Given the description of an element on the screen output the (x, y) to click on. 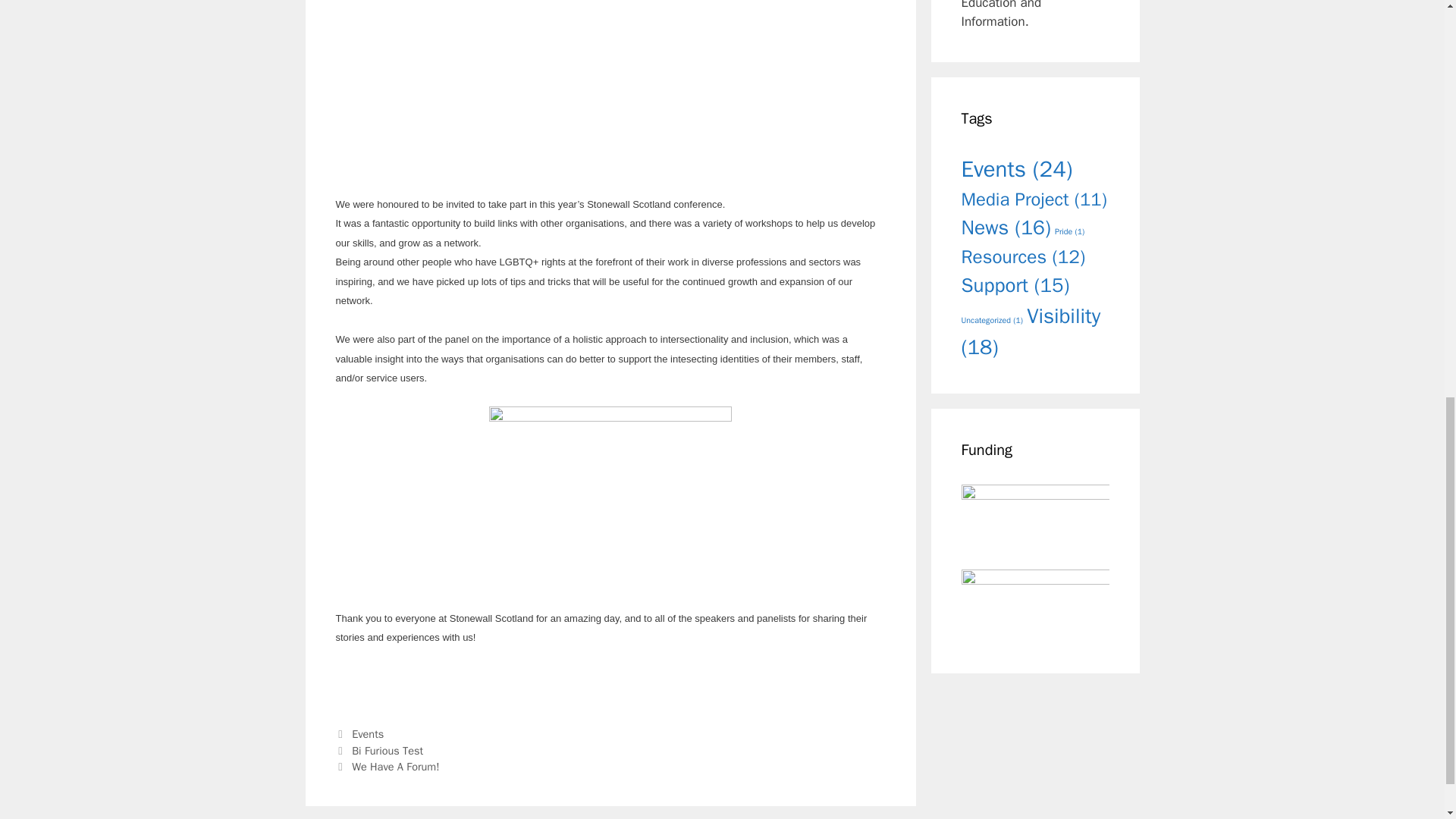
Previous (378, 750)
Events (368, 734)
Next (386, 766)
We Have A Forum! (395, 766)
Bi Furious Test (387, 750)
